Given the description of an element on the screen output the (x, y) to click on. 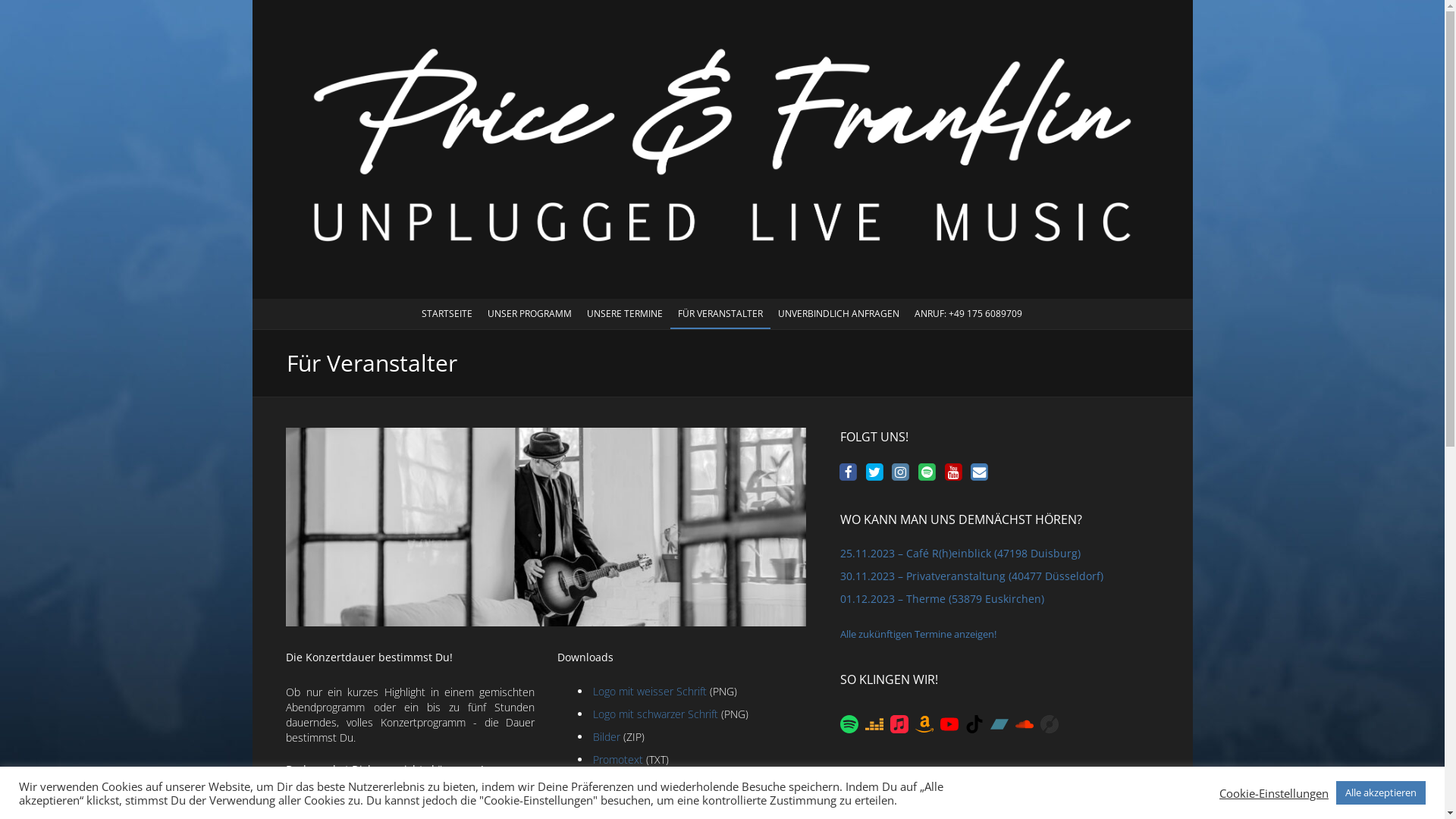
Cookie-Einstellungen Element type: text (1273, 792)
Technikanweisungen Element type: text (642, 804)
UNSERE TERMINE Element type: text (624, 312)
UNSER PROGRAMM Element type: text (529, 312)
Amazon Element type: text (926, 722)
Spotify Element type: text (851, 722)
Apple Music Element type: text (901, 722)
Bandcamp Element type: text (1001, 722)
Promotext Element type: text (618, 759)
Deezer Element type: text (876, 722)
UNVERBINDLICH ANFRAGEN Element type: text (838, 312)
Logo mit weisser Schrift Element type: text (649, 691)
Plakat (DIN A2) Element type: text (628, 782)
Bilder Element type: text (606, 736)
Discogs Element type: text (1051, 722)
ANRUF: +49 175 6089709 Element type: text (967, 312)
Logo mit schwarzer Schrift Element type: text (655, 713)
TikTok Element type: text (976, 722)
Alle akzeptieren Element type: text (1380, 792)
STARTSEITE Element type: text (447, 312)
SoundCloud Element type: text (1026, 722)
YouTube Element type: text (951, 722)
